Given the description of an element on the screen output the (x, y) to click on. 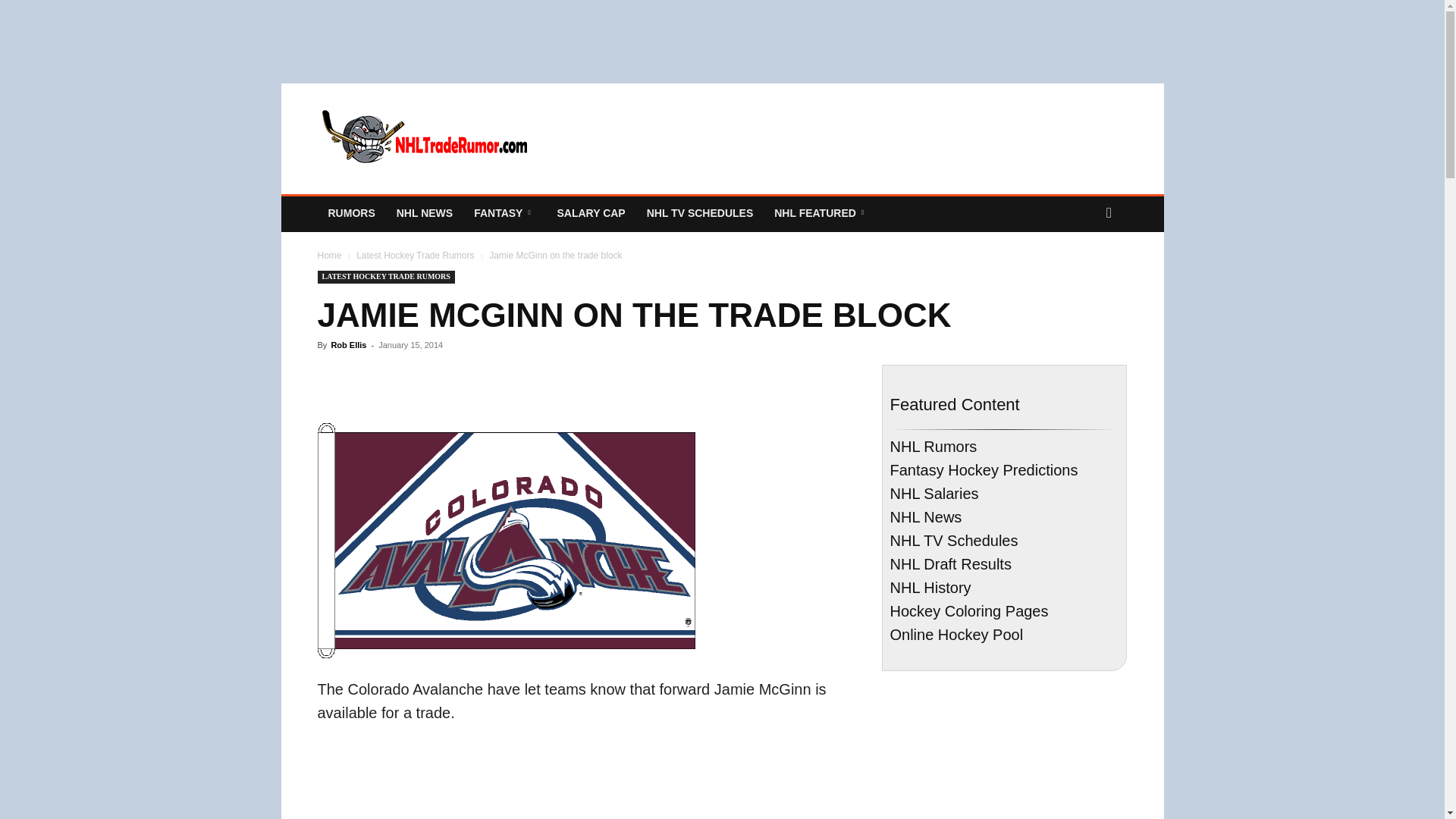
Fantasy Hockey Predictions (504, 212)
NHL NEWS (424, 212)
RUMORS (351, 212)
FANTASY (504, 212)
NHL Salary Cap (590, 212)
Latest NHL news and rumors (351, 212)
